Given the description of an element on the screen output the (x, y) to click on. 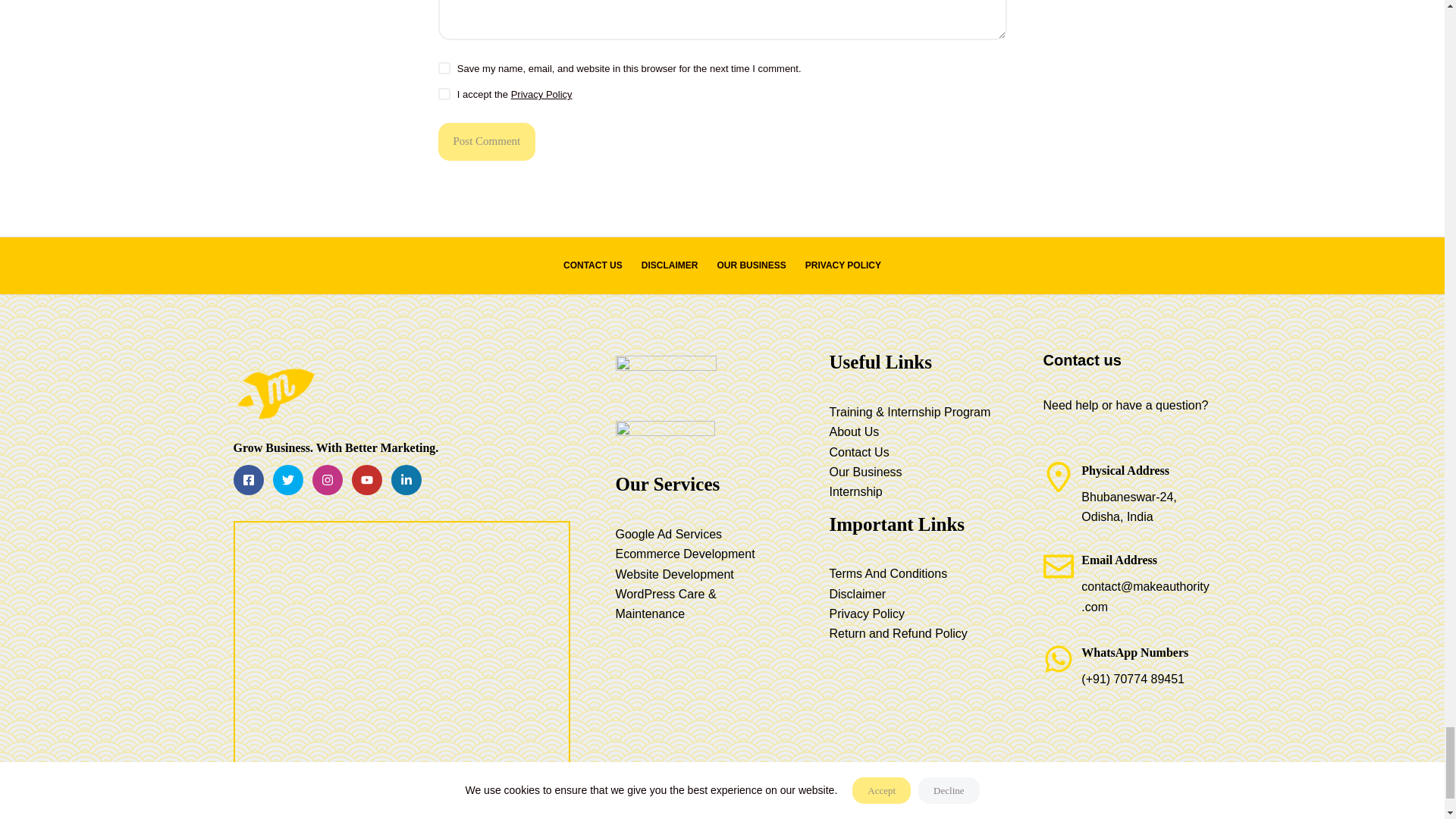
on (443, 93)
yes (443, 68)
Embedded content from Google Maps Platform. (401, 654)
